Given the description of an element on the screen output the (x, y) to click on. 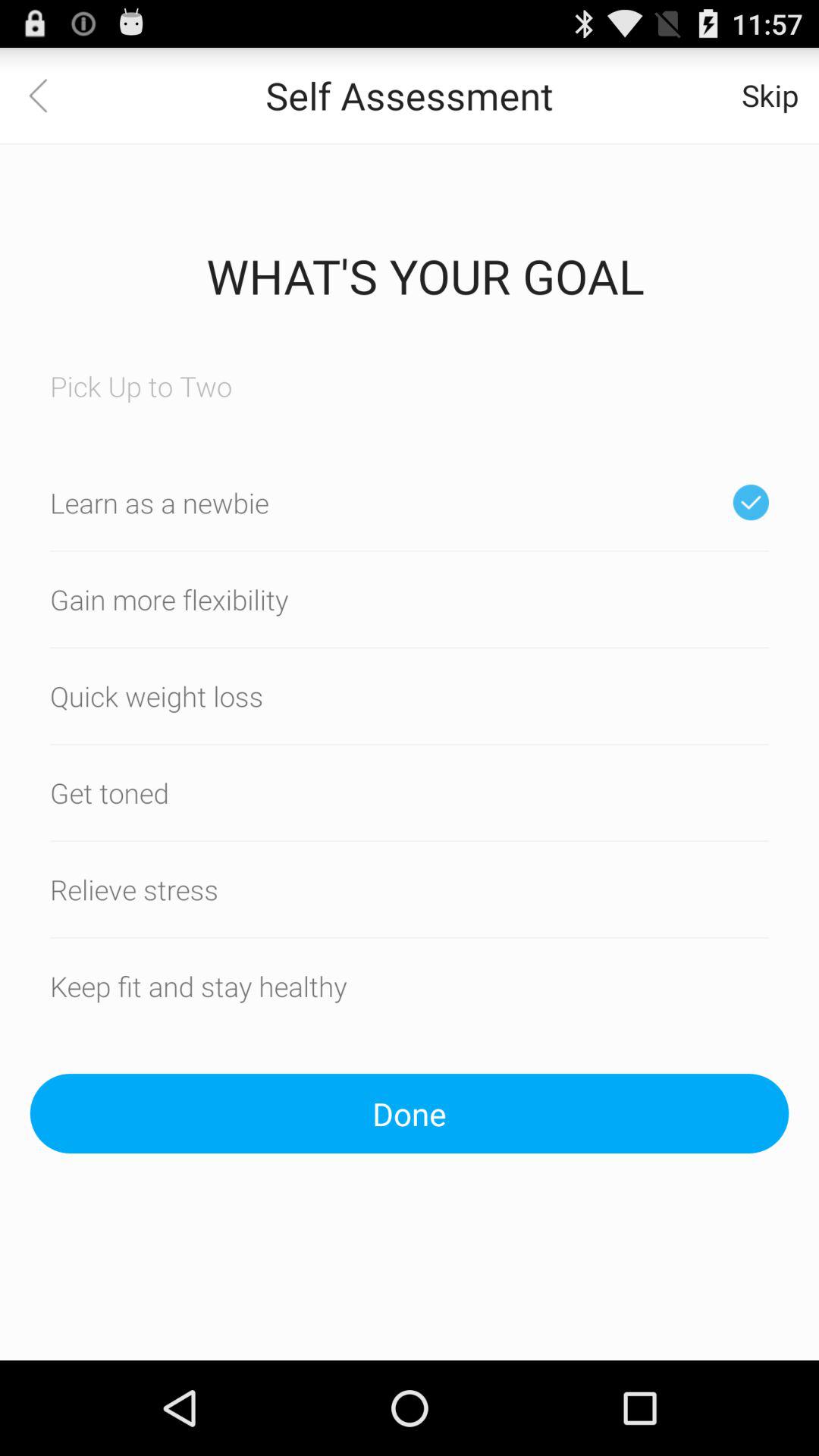
select icon next to the self assessment (770, 95)
